Given the description of an element on the screen output the (x, y) to click on. 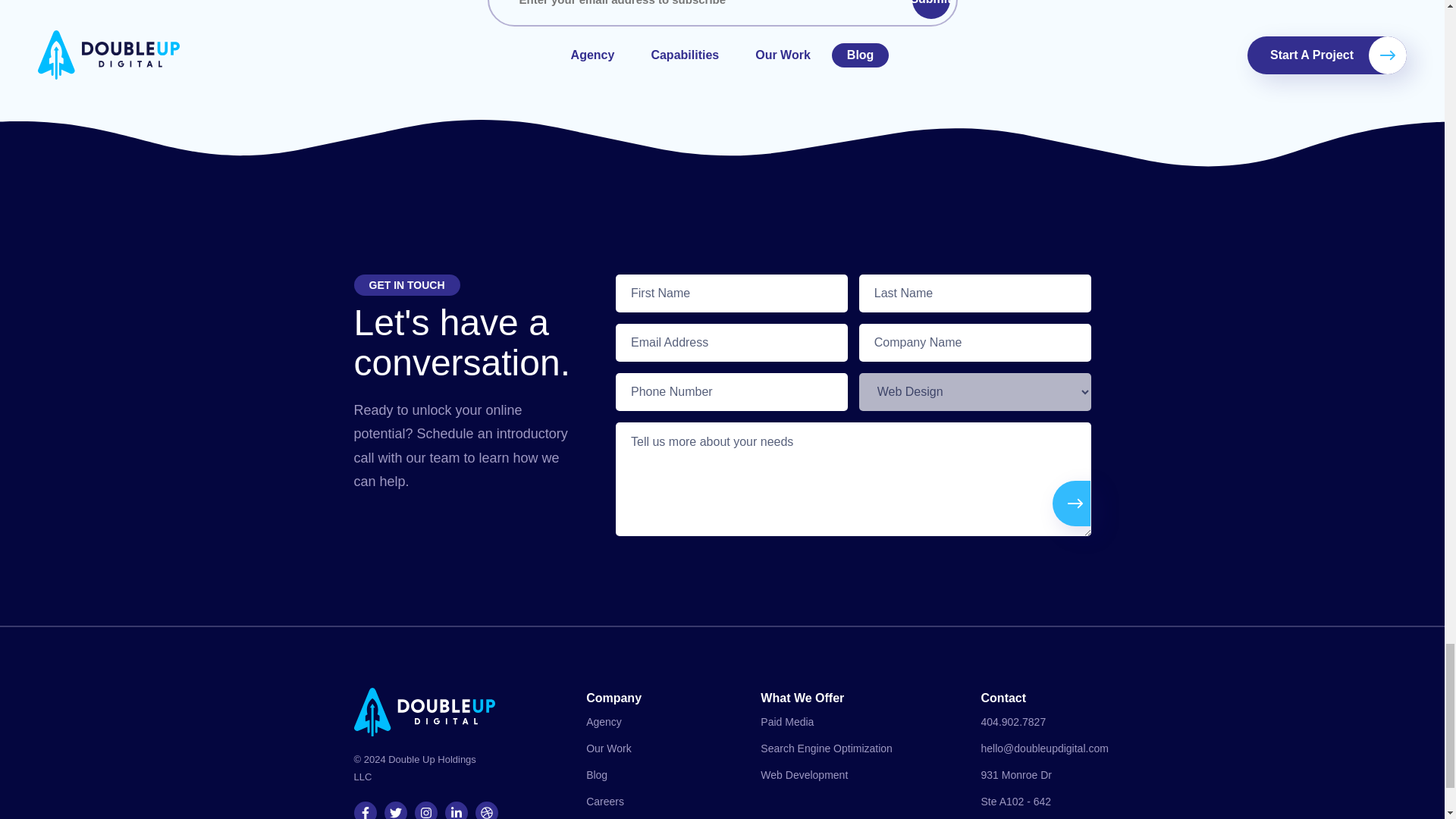
Agency (603, 721)
Our Work (608, 748)
Submit (930, 9)
